Given the description of an element on the screen output the (x, y) to click on. 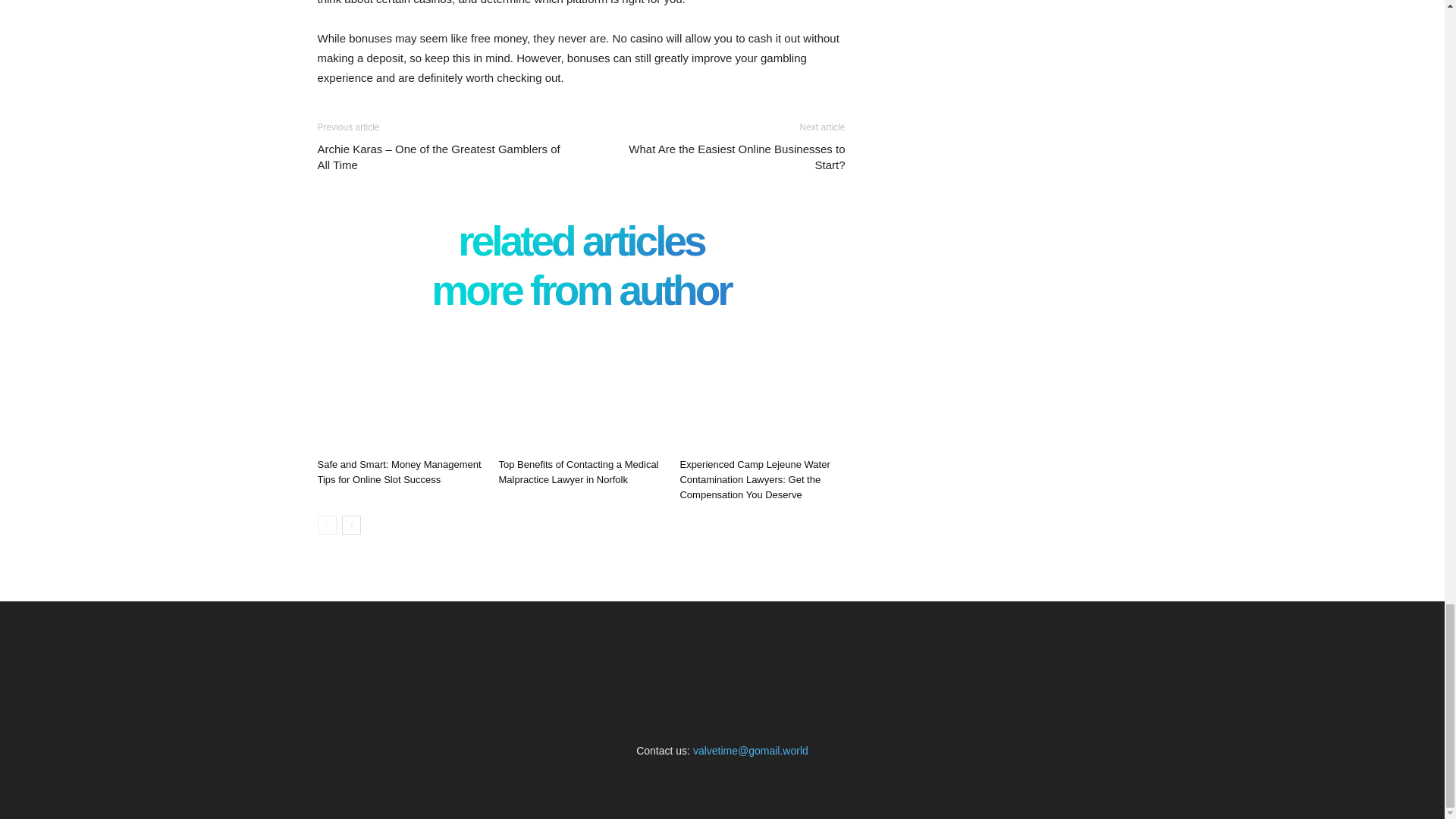
related articles (580, 245)
What Are the Easiest Online Businesses to Start? (721, 156)
more from author (580, 294)
